Given the description of an element on the screen output the (x, y) to click on. 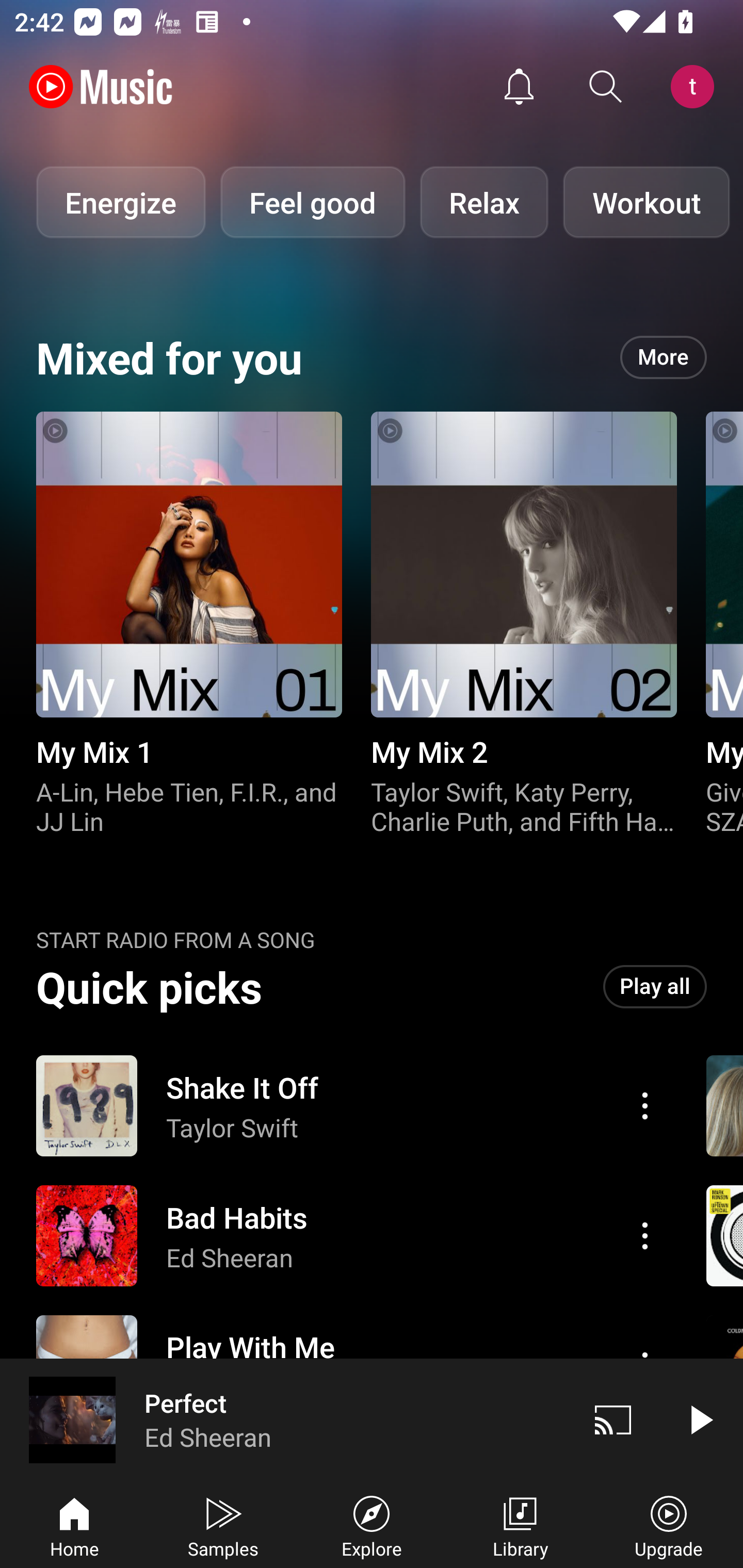
Activity feed (518, 86)
Search (605, 86)
Account (696, 86)
Action menu (349, 1106)
Action menu (644, 1106)
Action menu (349, 1236)
Action menu (644, 1235)
Perfect Ed Sheeran (284, 1419)
Cast. Disconnected (612, 1419)
Play video (699, 1419)
Home (74, 1524)
Samples (222, 1524)
Explore (371, 1524)
Library (519, 1524)
Upgrade (668, 1524)
